Given the description of an element on the screen output the (x, y) to click on. 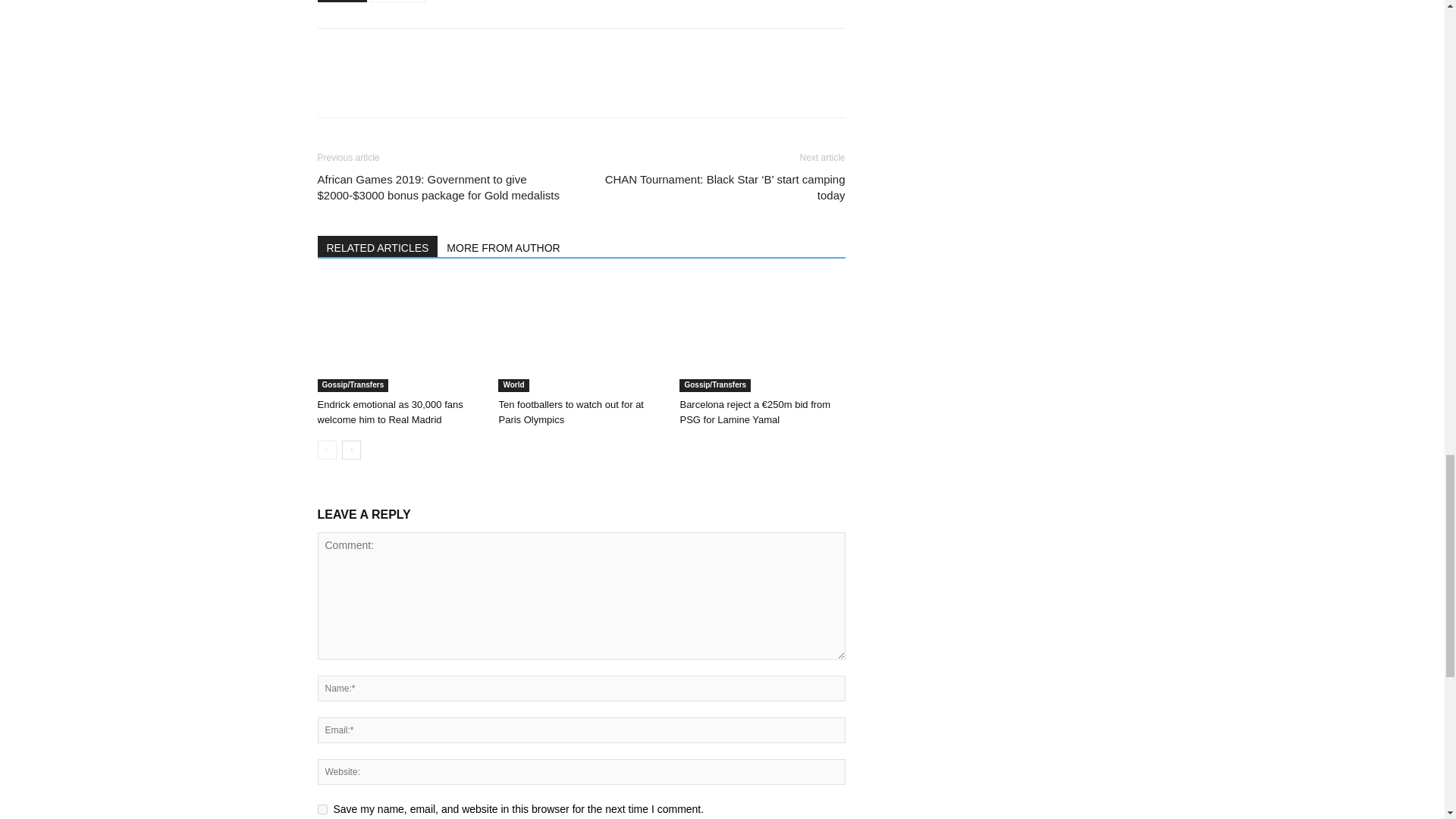
yes (321, 809)
